Given the description of an element on the screen output the (x, y) to click on. 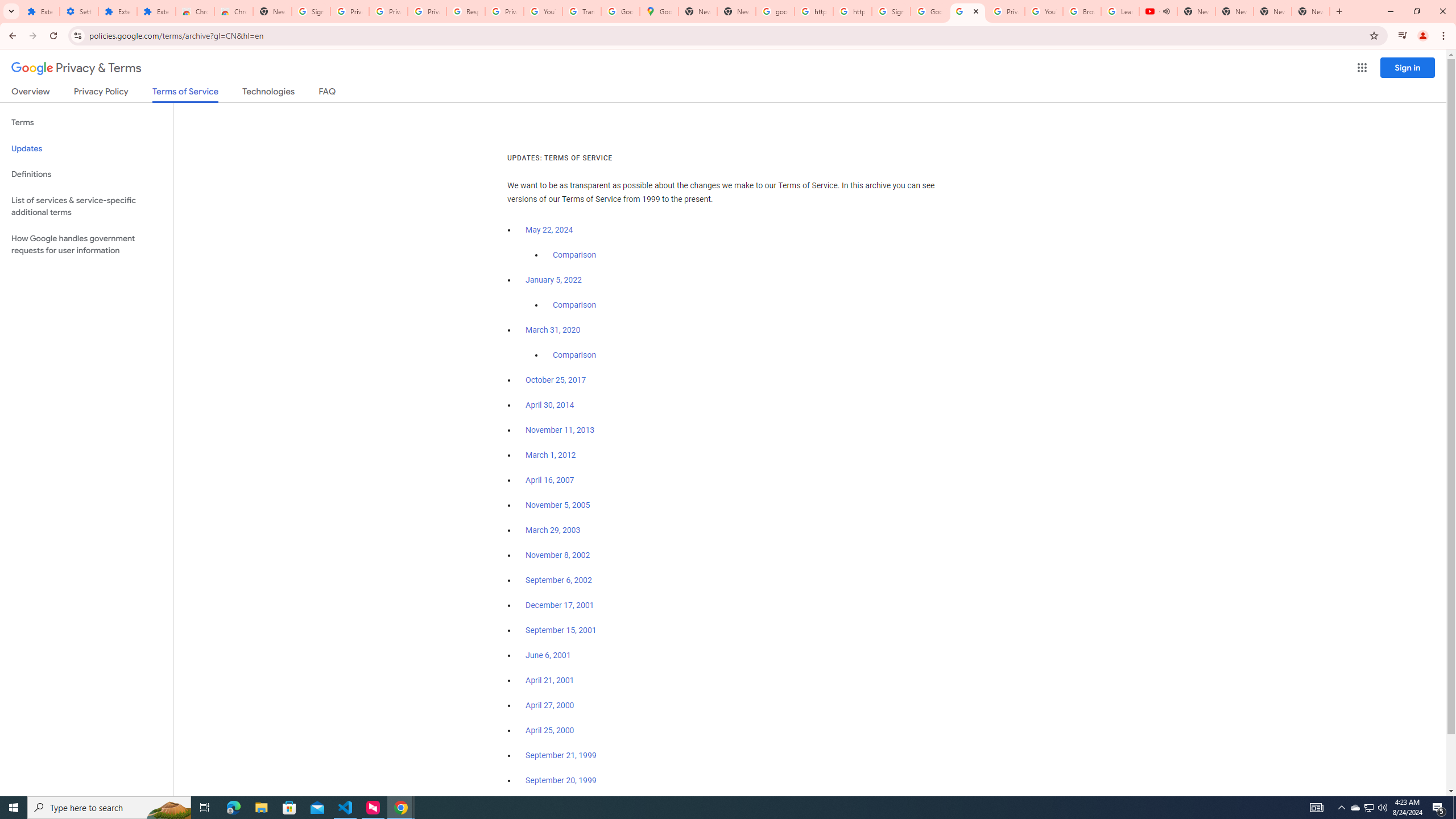
List of services & service-specific additional terms (86, 206)
November 5, 2005 (557, 505)
October 25, 2017 (555, 380)
May 22, 2024 (549, 230)
Extensions (156, 11)
https://scholar.google.com/ (852, 11)
